Given the description of an element on the screen output the (x, y) to click on. 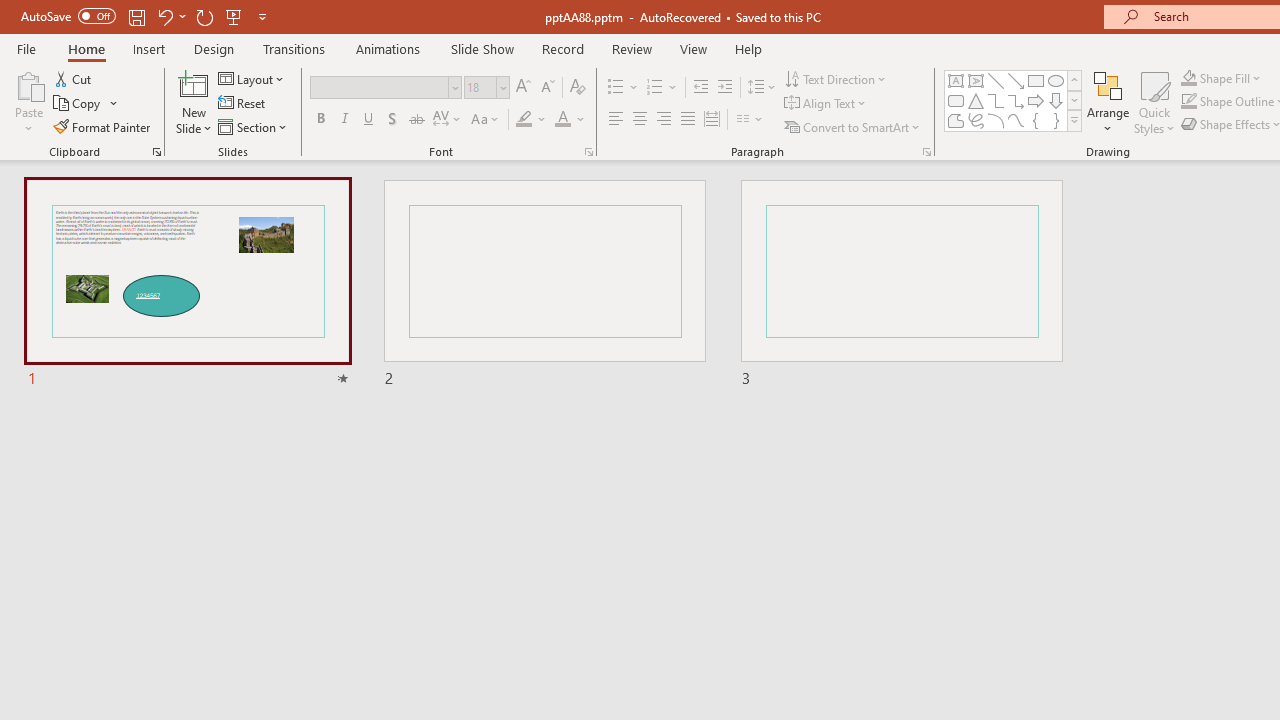
Increase Font Size (522, 87)
Bold (320, 119)
Columns (750, 119)
Cut (73, 78)
Justify (687, 119)
